Given the description of an element on the screen output the (x, y) to click on. 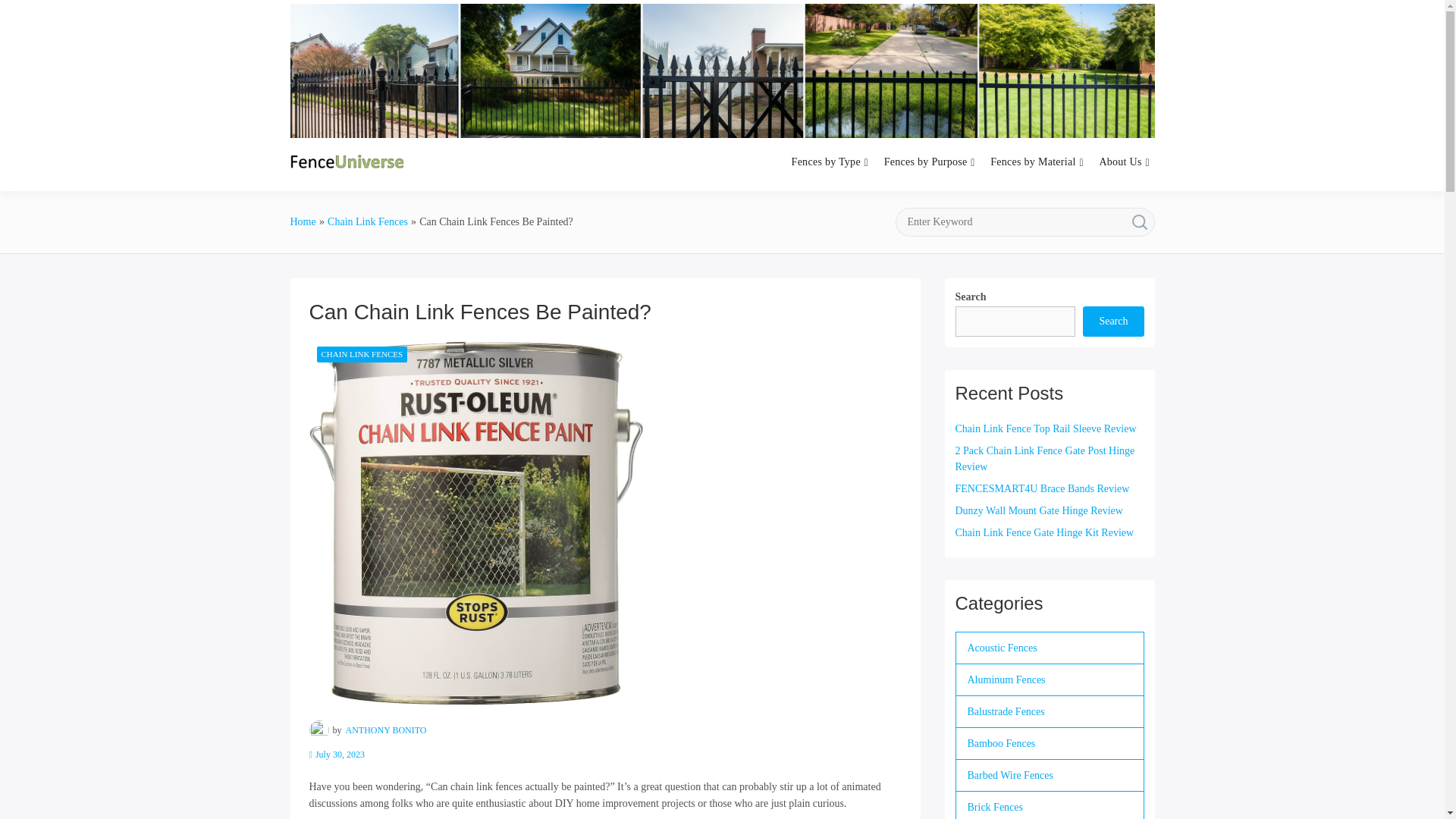
Fences by Purpose (925, 162)
FenceUniverse (504, 179)
Go (1139, 222)
Fences by Type (826, 162)
